Given the description of an element on the screen output the (x, y) to click on. 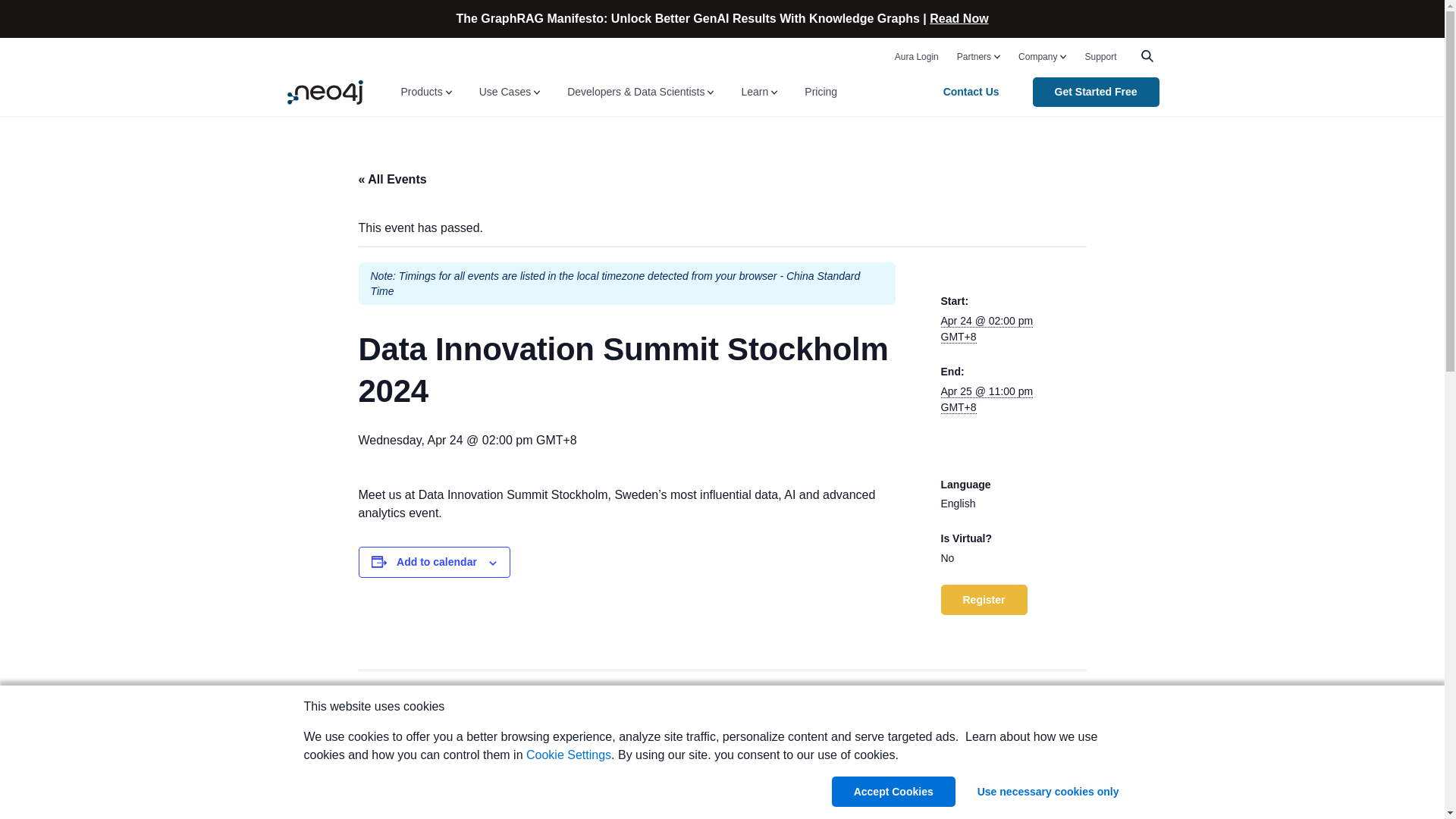
Use necessary cookies only (1048, 791)
Cookie Settings (568, 754)
2024-04-25 (986, 399)
Accept Cookies (893, 791)
Read Now (959, 18)
2024-04-23 (986, 328)
